Given the description of an element on the screen output the (x, y) to click on. 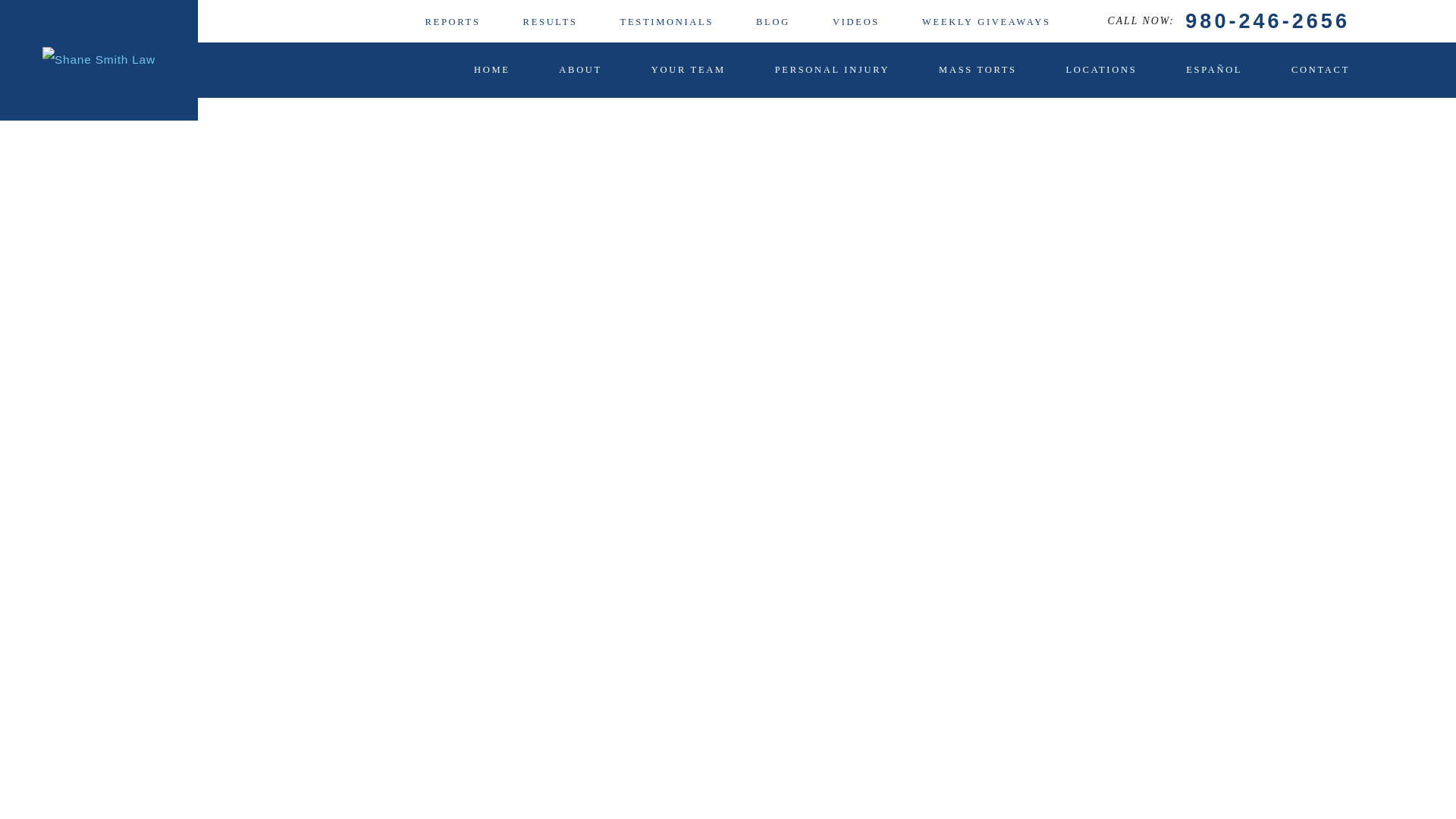
980-246-2656 (1267, 21)
TESTIMONIALS (666, 21)
YOUR TEAM (687, 69)
Shane Smith Law (98, 59)
VIDEOS (855, 21)
REPORTS (452, 21)
WEEKLY GIVEAWAYS (986, 21)
BLOG (772, 21)
HOME (492, 69)
RESULTS (550, 21)
ABOUT (580, 69)
